Given the description of an element on the screen output the (x, y) to click on. 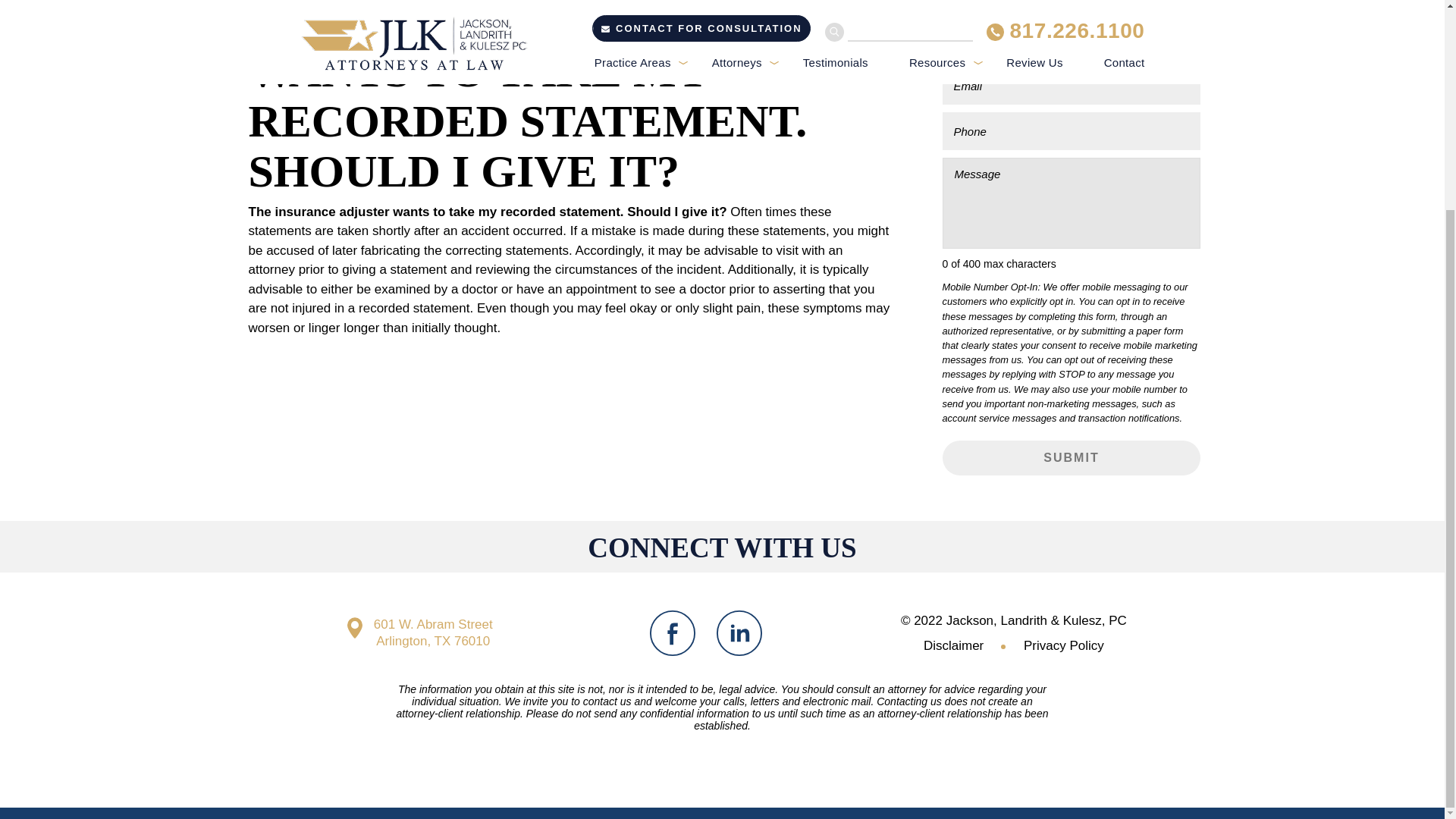
submit (1070, 457)
